Given the description of an element on the screen output the (x, y) to click on. 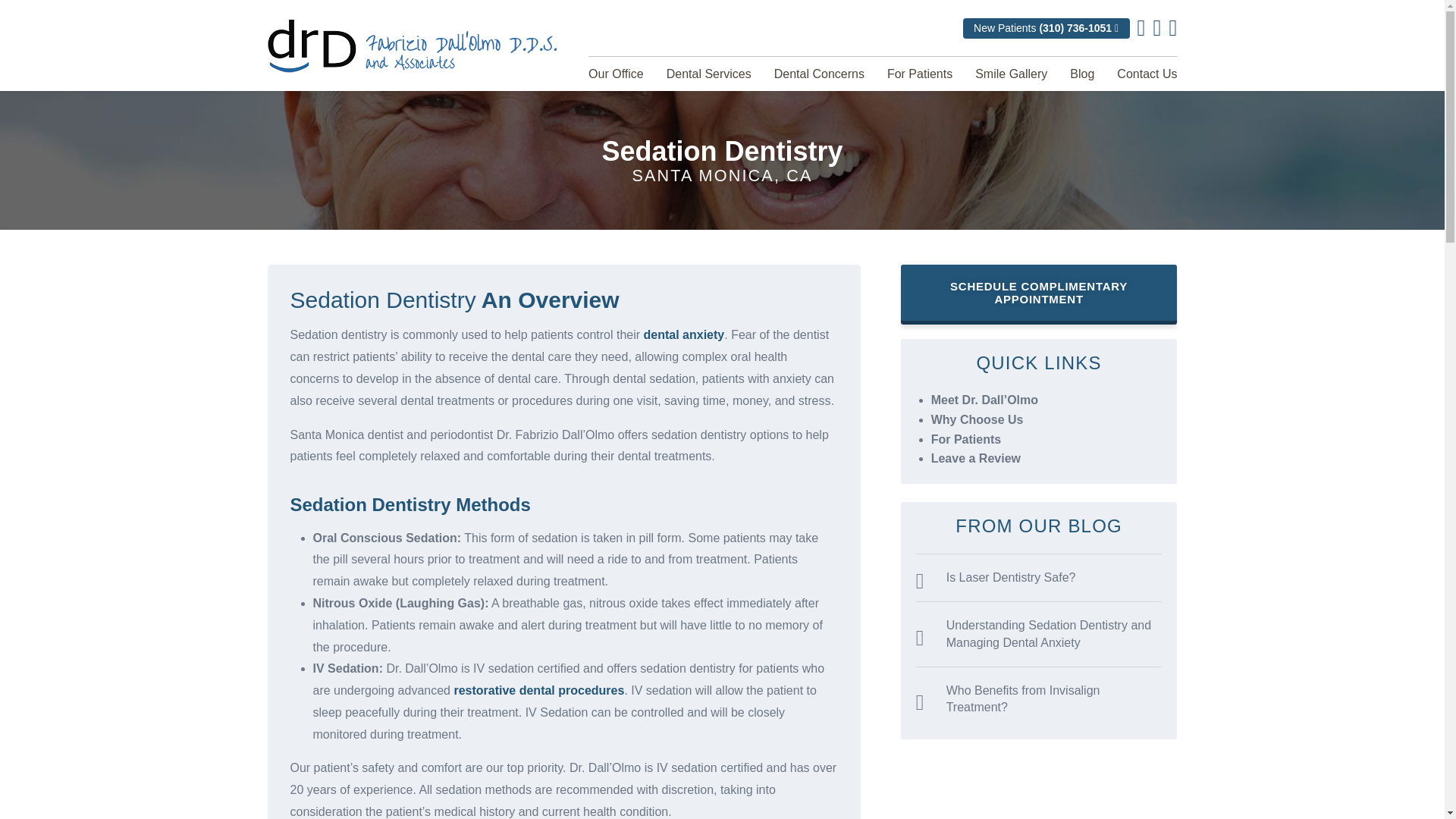
Dental Services (708, 73)
Our Office (615, 73)
Dental Concerns (819, 73)
